Given the description of an element on the screen output the (x, y) to click on. 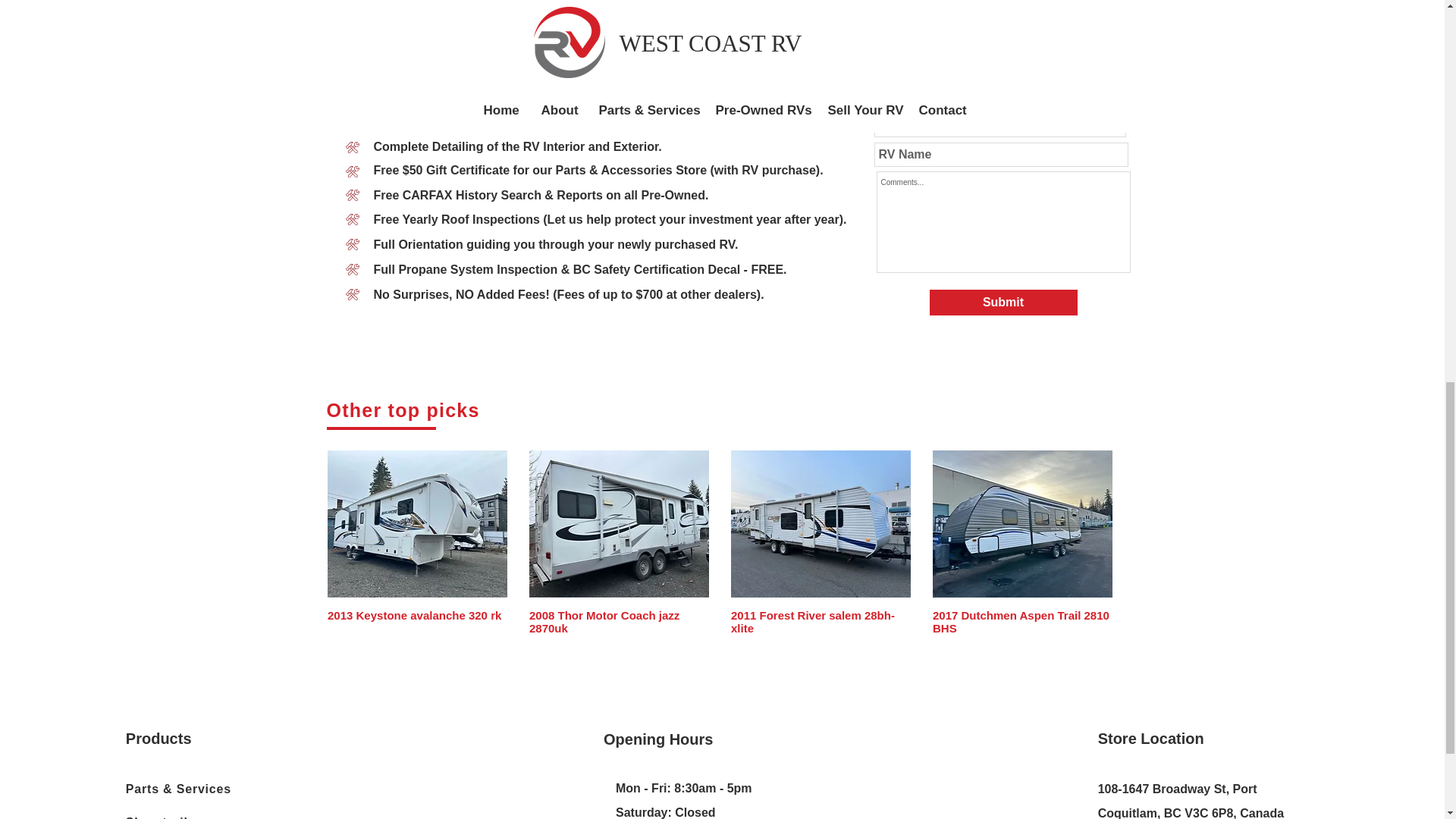
Submit (1003, 302)
Shop trailer (198, 813)
